Given the description of an element on the screen output the (x, y) to click on. 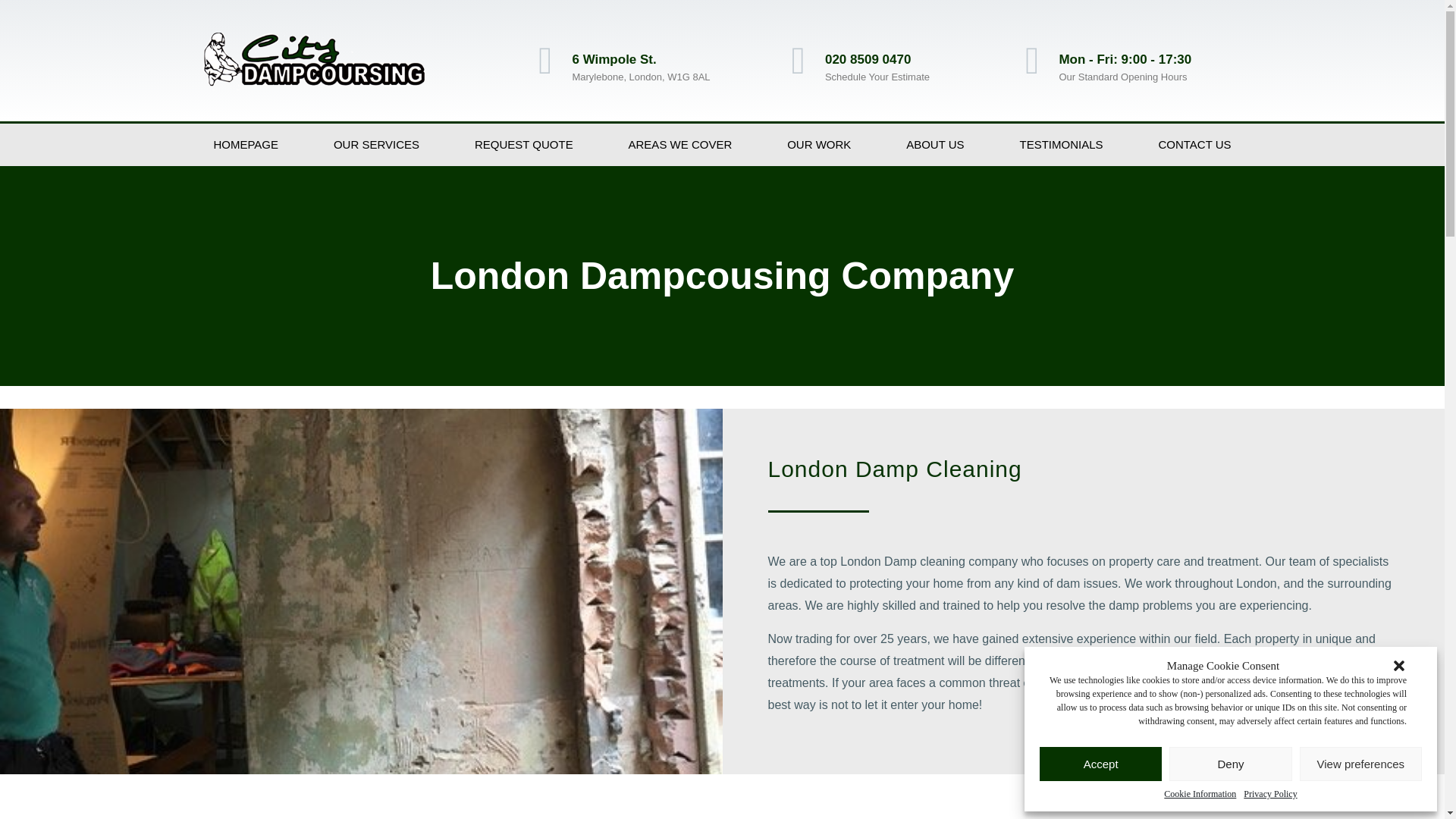
REQUEST QUOTE (522, 144)
AREAS WE COVER (679, 144)
ABOUT US (935, 144)
020 8509 0470 (868, 58)
OUR SERVICES (375, 144)
CONTACT US (1195, 144)
TESTIMONIALS (1061, 144)
OUR WORK (819, 144)
HOMEPAGE (245, 144)
